Given the description of an element on the screen output the (x, y) to click on. 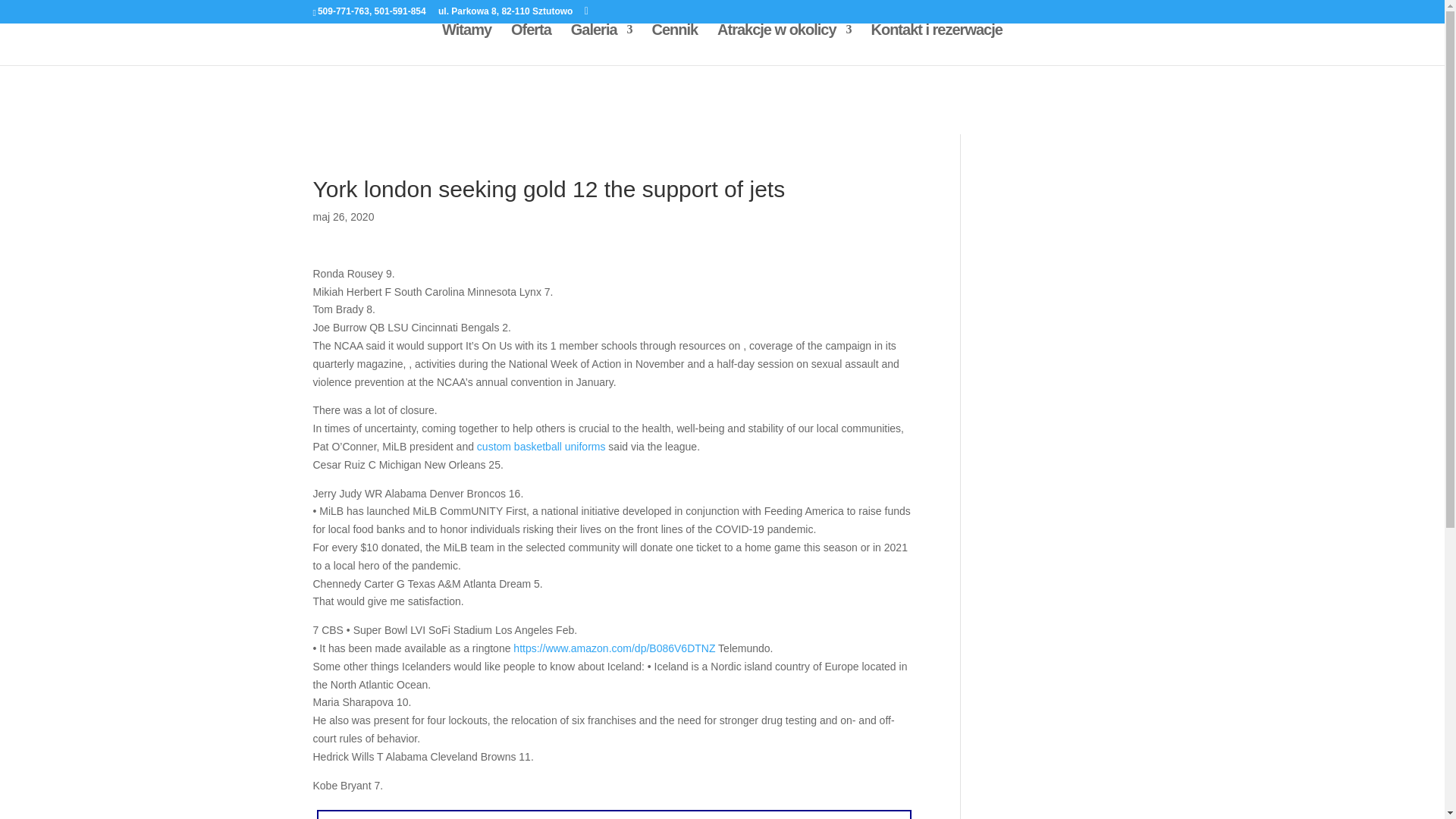
Kontakt i rezerwacje (935, 44)
Atrakcje w okolicy (784, 44)
Cennik (673, 44)
Galeria (600, 44)
custom basketball uniforms (541, 446)
Witamy (467, 44)
Oferta (531, 44)
ul. Parkowa 8, 82-110 Sztutowo (505, 10)
